Given the description of an element on the screen output the (x, y) to click on. 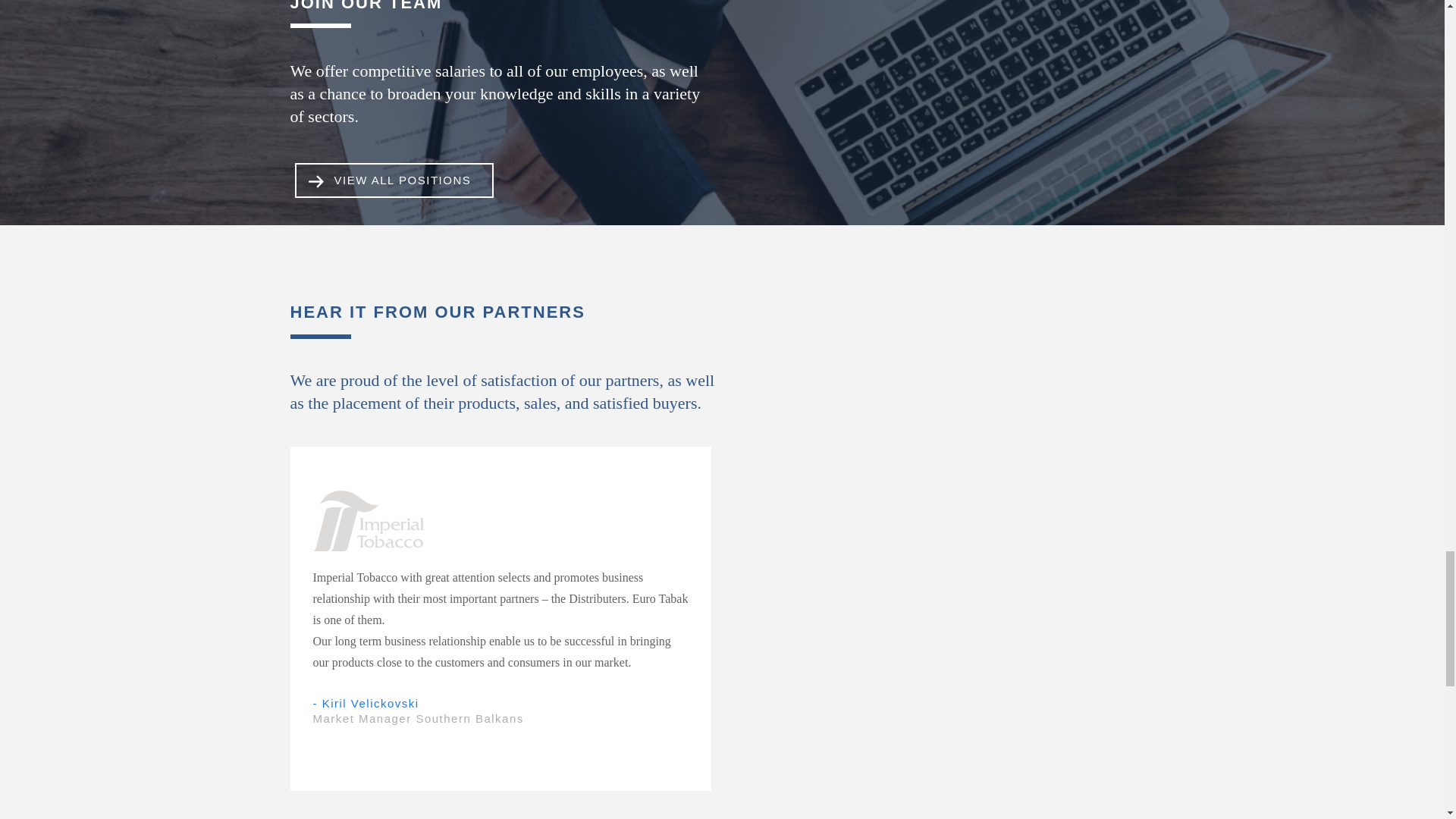
VIEW ALL POSITIONS (402, 179)
VIEW ALL POSITIONS (393, 180)
